Given the description of an element on the screen output the (x, y) to click on. 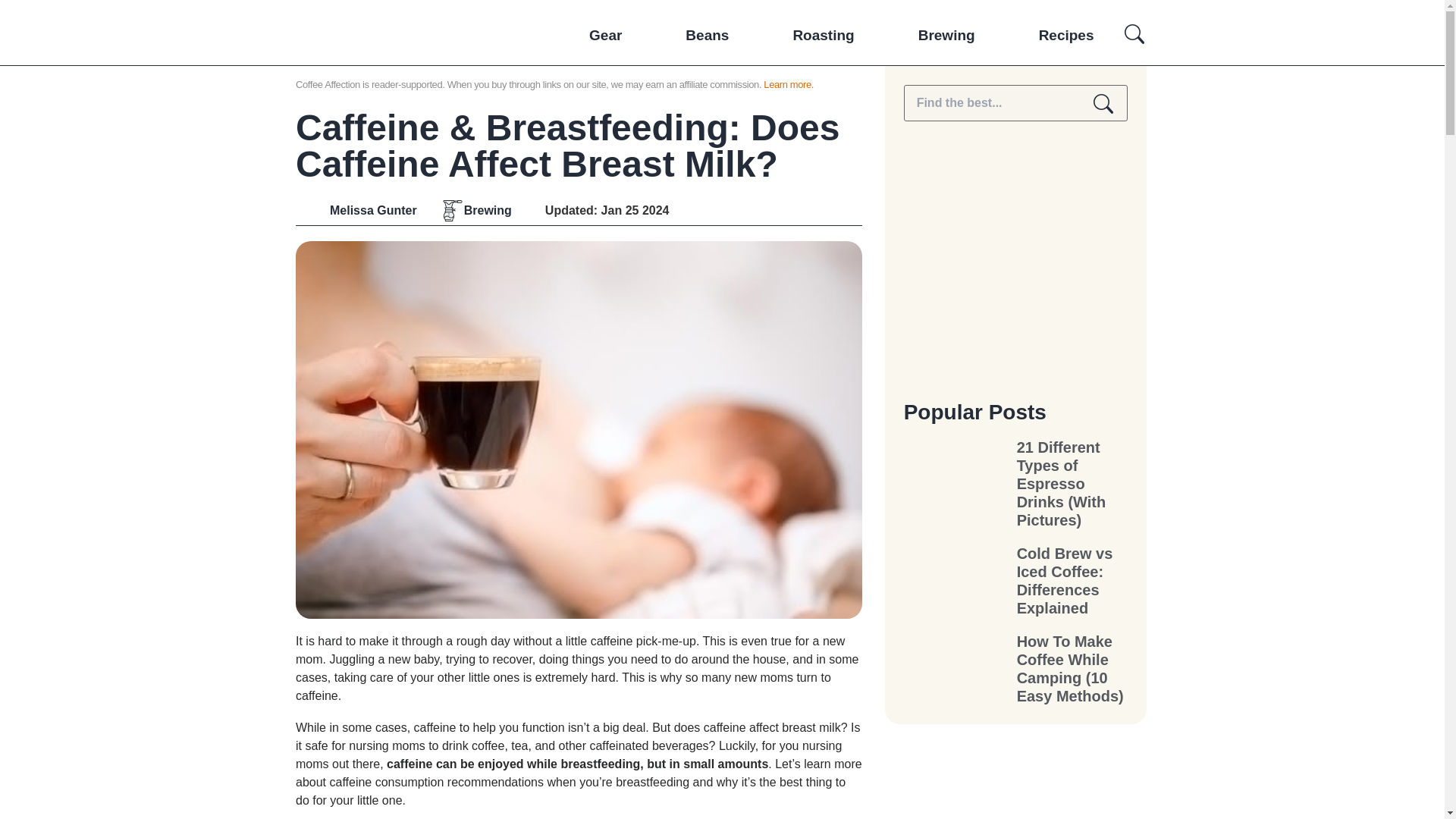
Cold Brew vs Iced Coffee: Differences Explained (1071, 580)
Recipes (1066, 35)
Coffee Affection primary logo (376, 92)
Beans (706, 35)
Brewing (946, 35)
Melissa Gunter (355, 211)
Gear (605, 35)
Learn more. (787, 84)
Brewing (488, 210)
Search (1102, 103)
Roasting (823, 35)
